Given the description of an element on the screen output the (x, y) to click on. 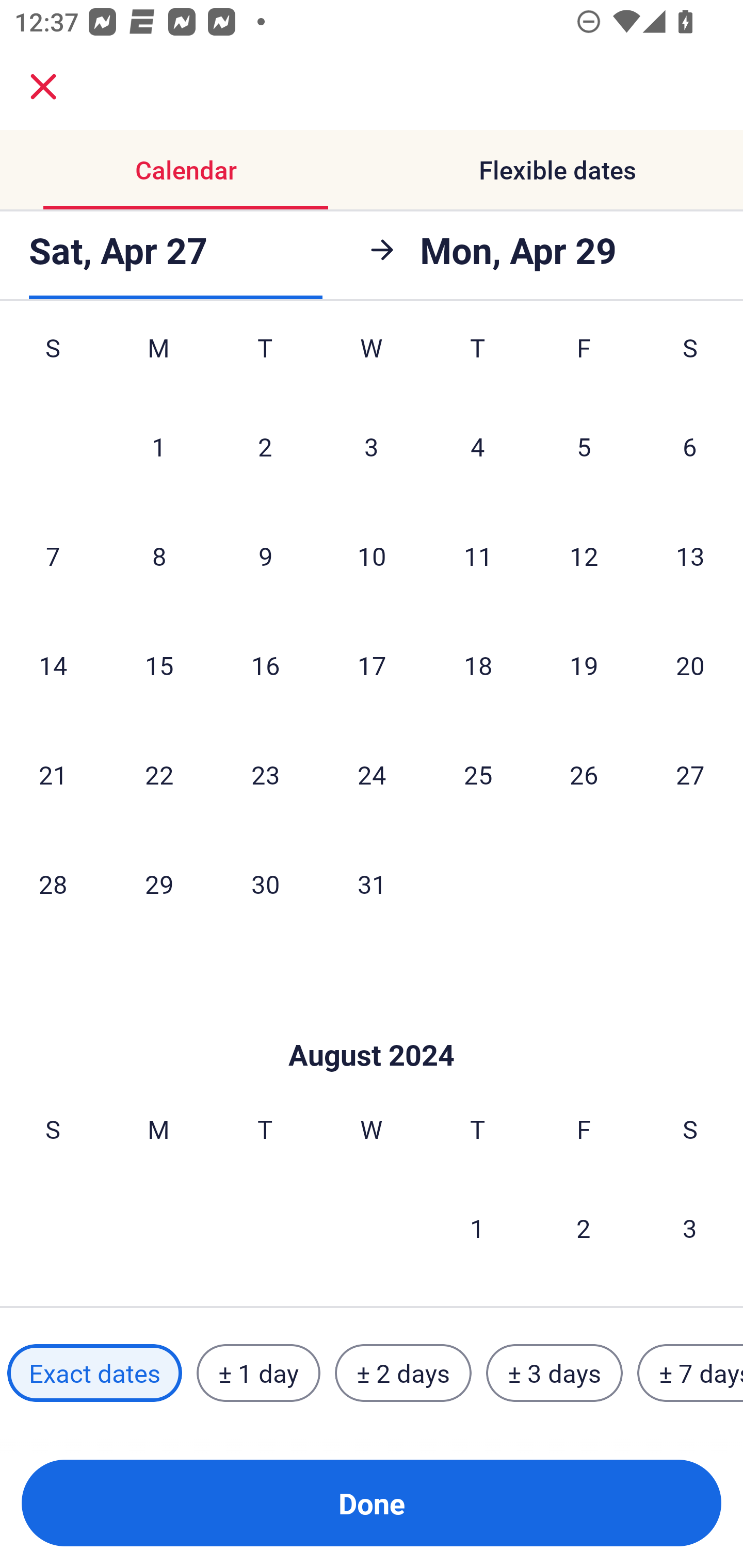
close. (43, 86)
Flexible dates (557, 170)
1 Monday, July 1, 2024 (158, 445)
2 Tuesday, July 2, 2024 (264, 445)
3 Wednesday, July 3, 2024 (371, 445)
4 Thursday, July 4, 2024 (477, 445)
5 Friday, July 5, 2024 (583, 445)
6 Saturday, July 6, 2024 (689, 445)
7 Sunday, July 7, 2024 (53, 555)
8 Monday, July 8, 2024 (159, 555)
9 Tuesday, July 9, 2024 (265, 555)
10 Wednesday, July 10, 2024 (371, 555)
11 Thursday, July 11, 2024 (477, 555)
12 Friday, July 12, 2024 (584, 555)
13 Saturday, July 13, 2024 (690, 555)
14 Sunday, July 14, 2024 (53, 664)
15 Monday, July 15, 2024 (159, 664)
16 Tuesday, July 16, 2024 (265, 664)
17 Wednesday, July 17, 2024 (371, 664)
18 Thursday, July 18, 2024 (477, 664)
19 Friday, July 19, 2024 (584, 664)
20 Saturday, July 20, 2024 (690, 664)
21 Sunday, July 21, 2024 (53, 774)
22 Monday, July 22, 2024 (159, 774)
23 Tuesday, July 23, 2024 (265, 774)
24 Wednesday, July 24, 2024 (371, 774)
25 Thursday, July 25, 2024 (477, 774)
26 Friday, July 26, 2024 (584, 774)
27 Saturday, July 27, 2024 (690, 774)
28 Sunday, July 28, 2024 (53, 883)
29 Monday, July 29, 2024 (159, 883)
30 Tuesday, July 30, 2024 (265, 883)
31 Wednesday, July 31, 2024 (371, 883)
Skip to Done (371, 1024)
1 Thursday, August 1, 2024 (477, 1227)
2 Friday, August 2, 2024 (583, 1227)
3 Saturday, August 3, 2024 (689, 1227)
Exact dates (94, 1372)
± 1 day (258, 1372)
± 2 days (403, 1372)
± 3 days (553, 1372)
± 7 days (690, 1372)
Done (371, 1502)
